Given the description of an element on the screen output the (x, y) to click on. 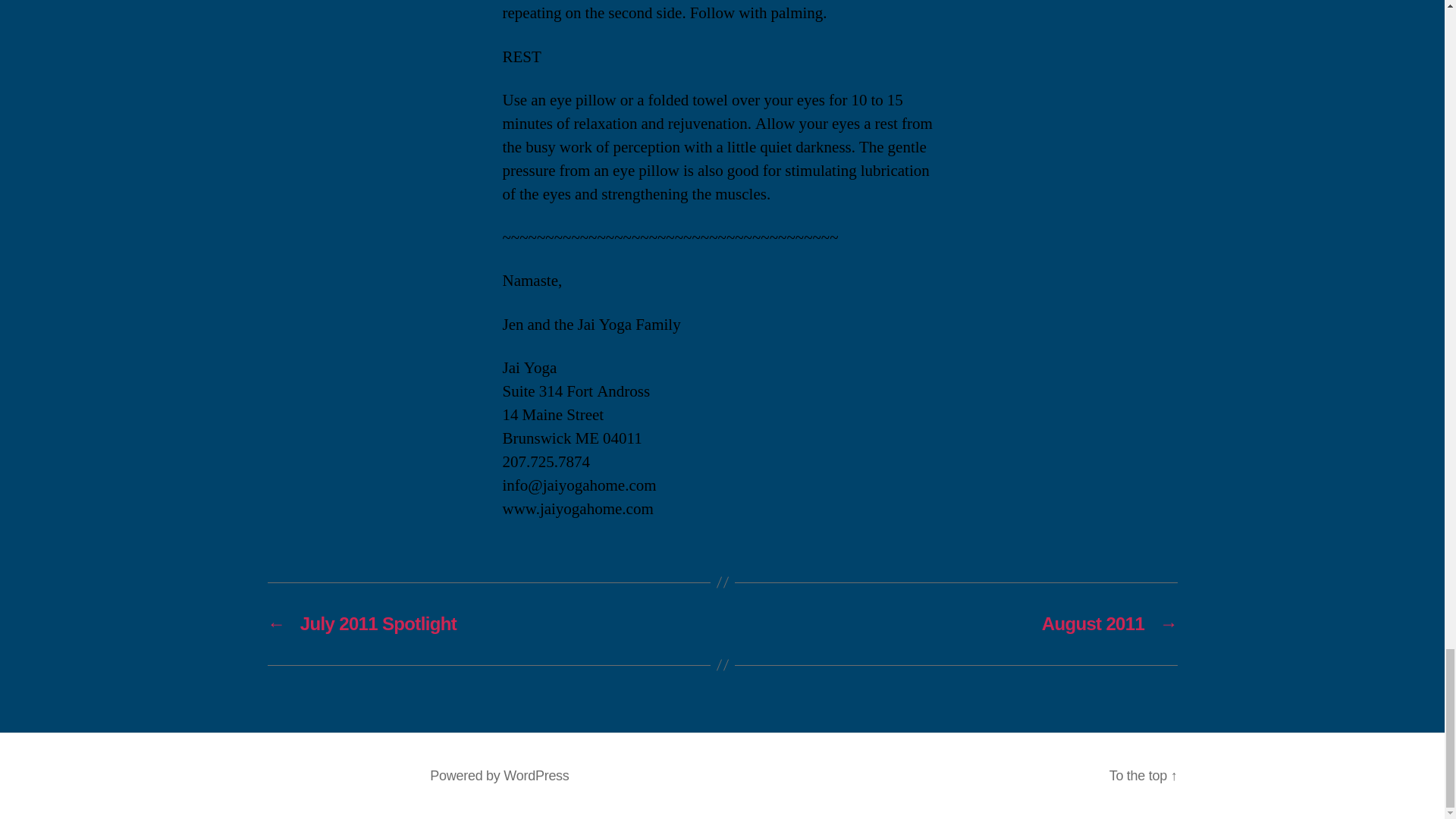
Powered by WordPress (499, 775)
Jai Yoga Studio (363, 775)
